Given the description of an element on the screen output the (x, y) to click on. 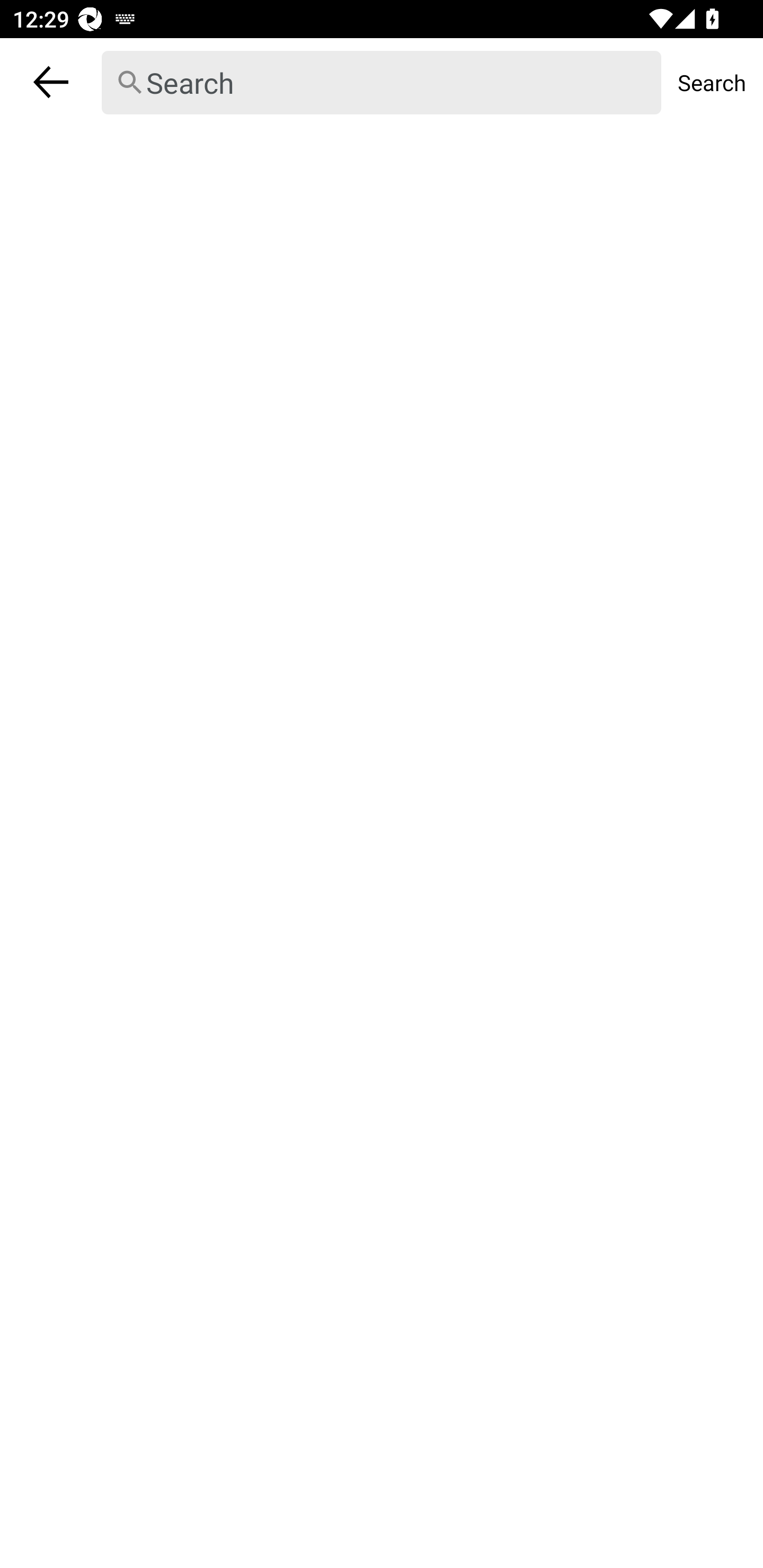
close (50, 81)
search Search (381, 82)
Search (381, 82)
Search (711, 82)
